Given the description of an element on the screen output the (x, y) to click on. 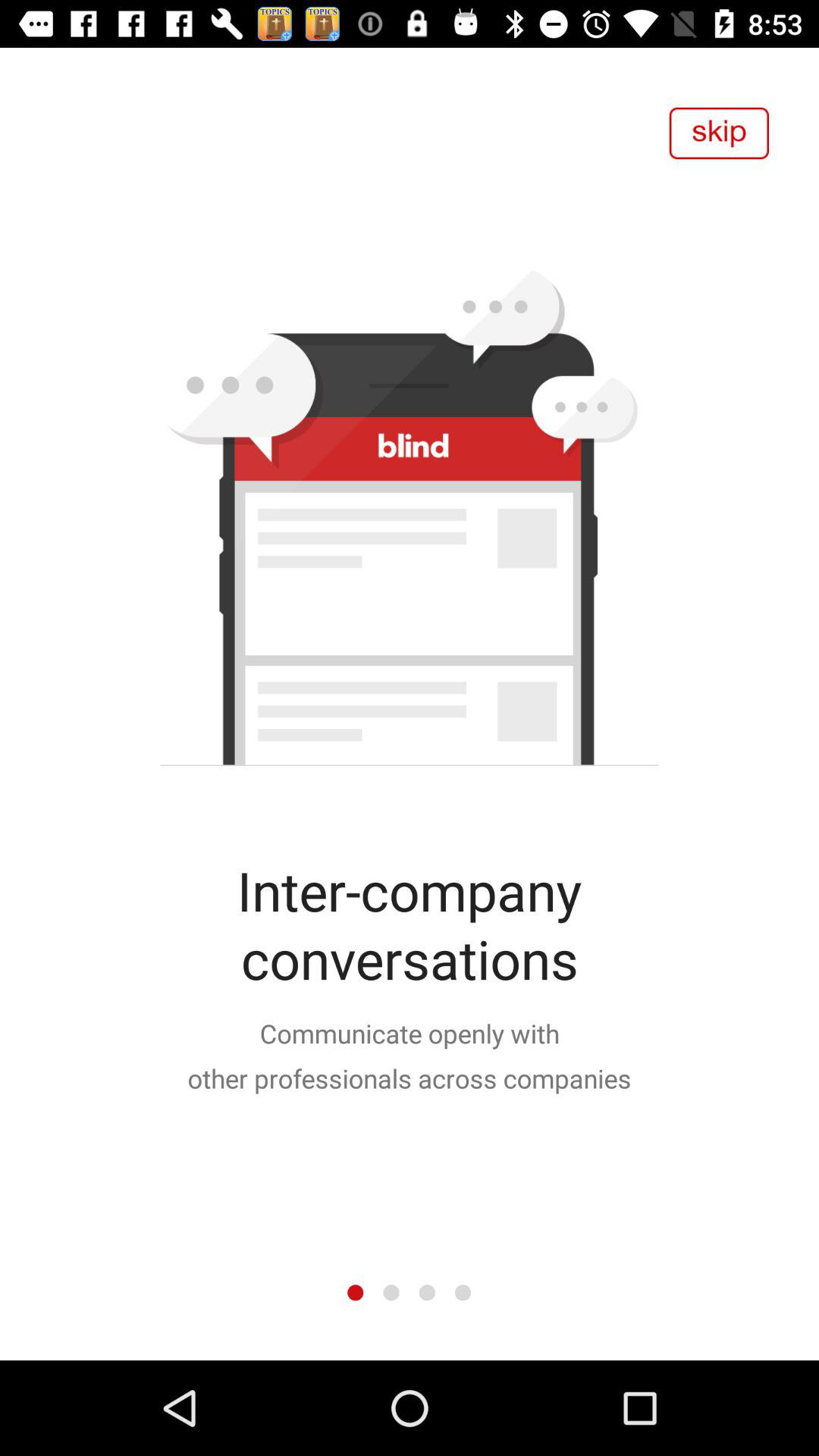
click the item at the top right corner (718, 133)
